Given the description of an element on the screen output the (x, y) to click on. 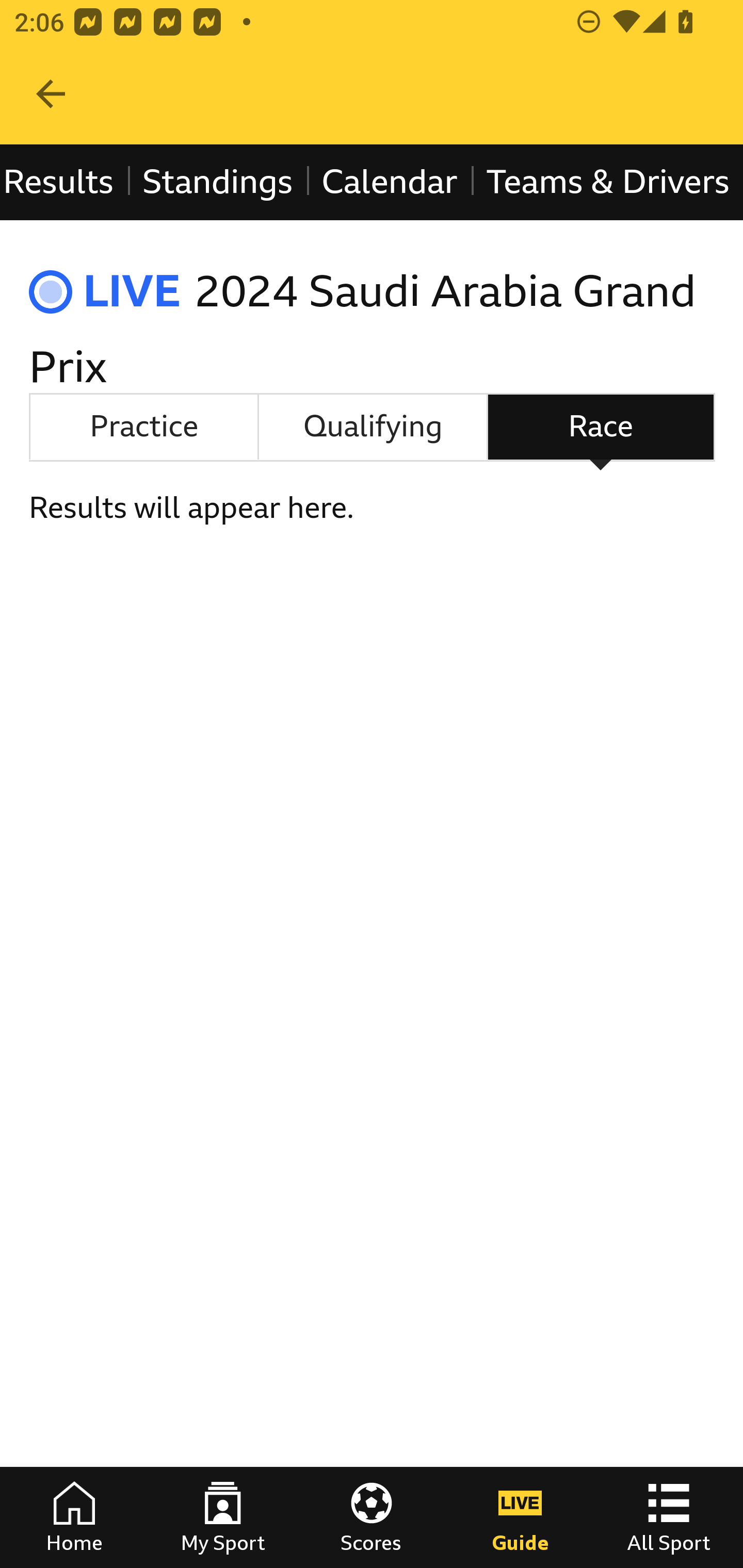
Navigate up (50, 93)
Results (65, 181)
Standings (217, 181)
Calendar (389, 181)
Teams & Drivers (607, 181)
Practice (142, 426)
Qualifying (372, 426)
Race (600, 426)
Home (74, 1517)
My Sport (222, 1517)
Scores (371, 1517)
All Sport (668, 1517)
